Given the description of an element on the screen output the (x, y) to click on. 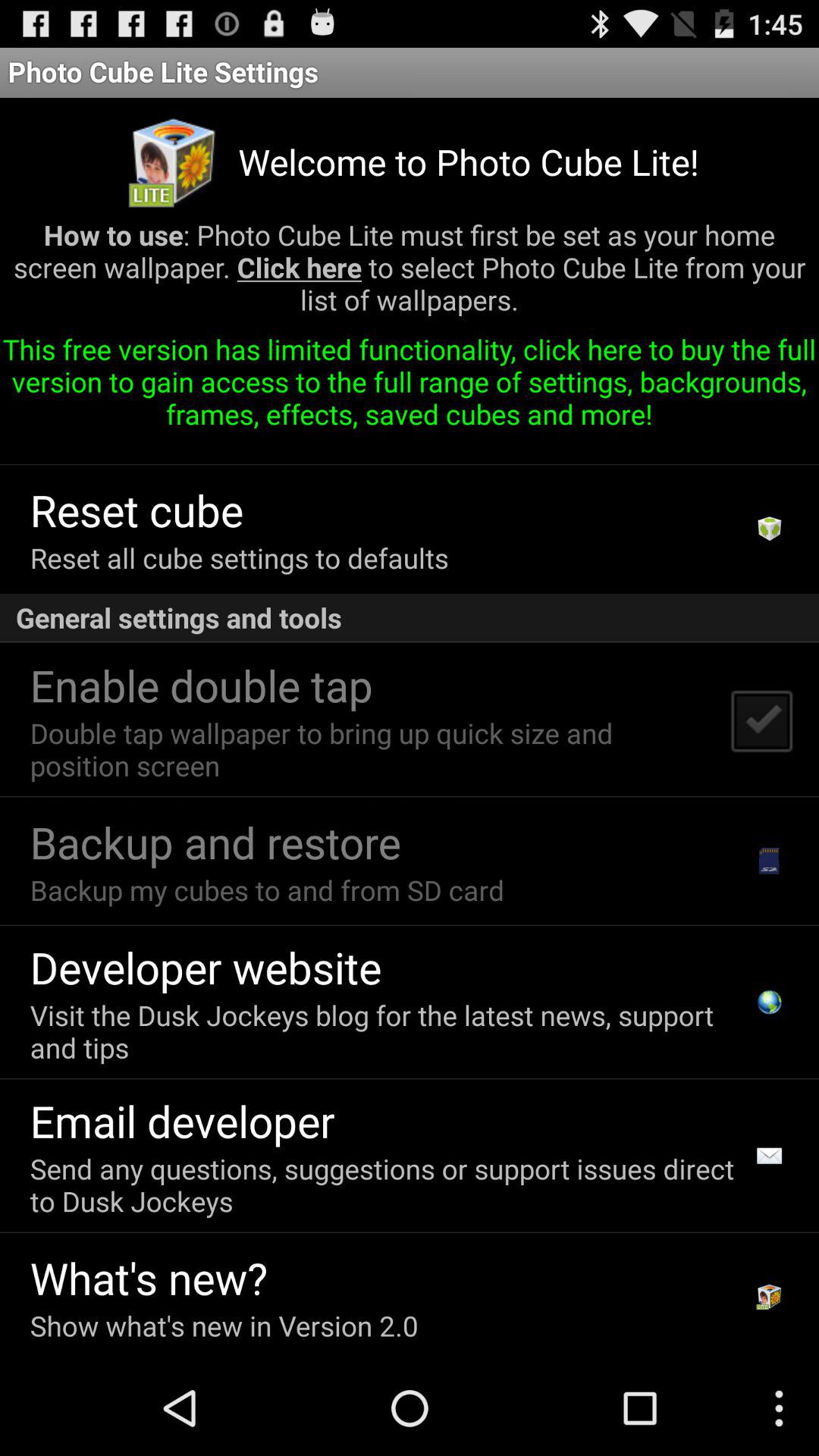
choose app above the email developer app (386, 1031)
